Given the description of an element on the screen output the (x, y) to click on. 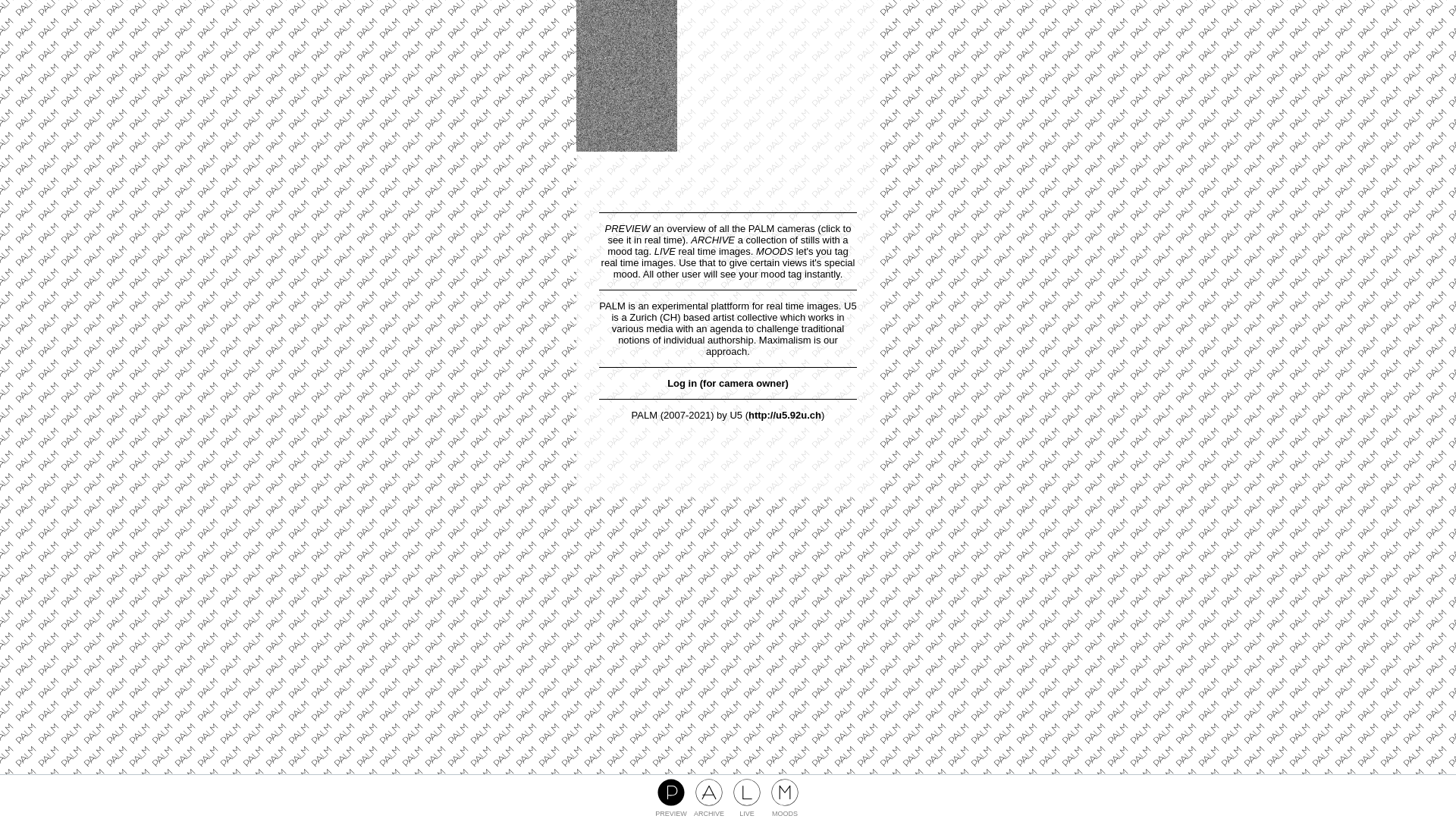
http://u5.92u.ch Element type: text (784, 414)
Log in (for camera owner) Element type: text (727, 383)
